Given the description of an element on the screen output the (x, y) to click on. 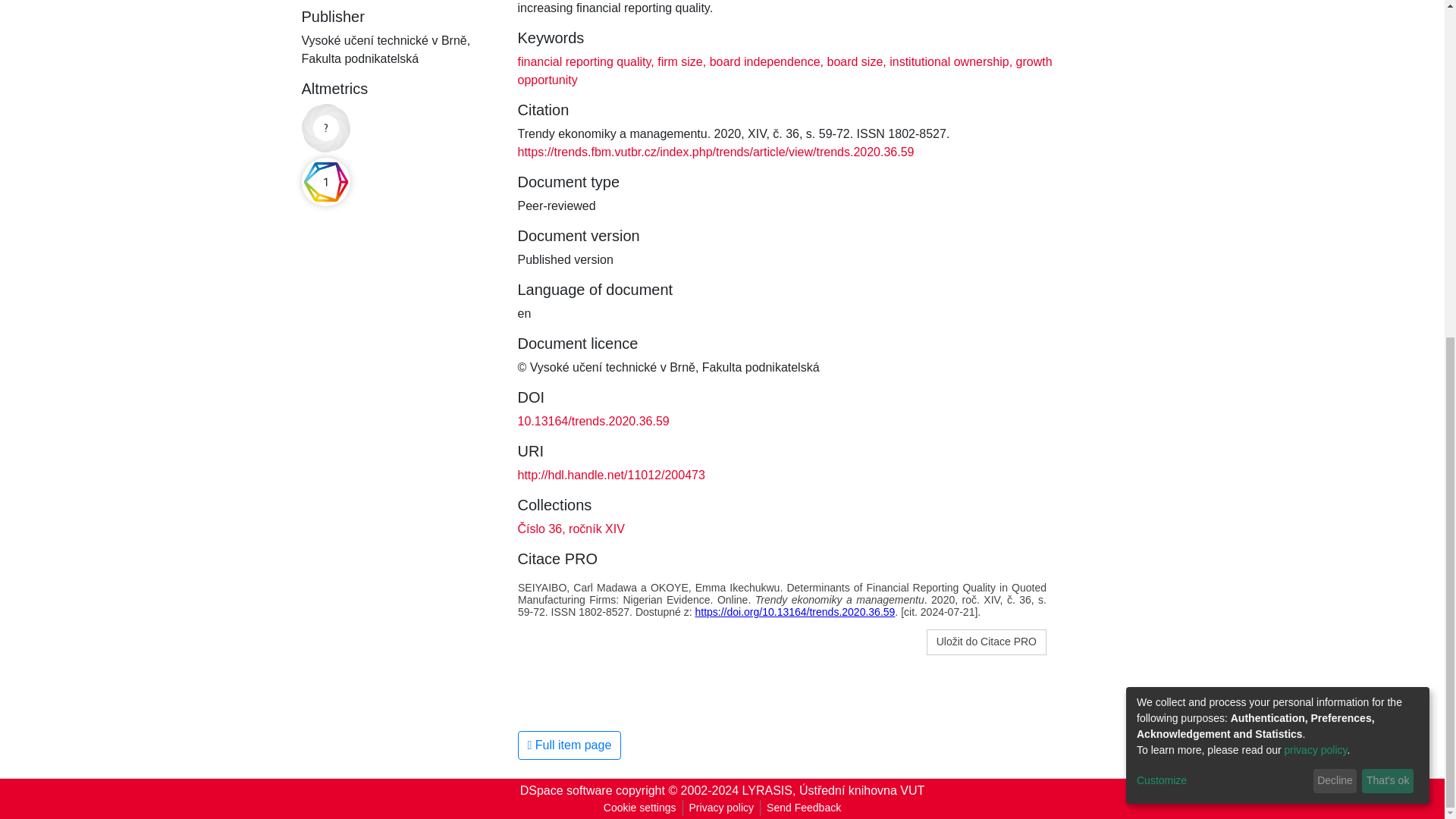
Customize (1222, 213)
board independence, (765, 61)
financial reporting quality, (584, 61)
institutional ownership, (948, 61)
Privacy policy (721, 807)
Full item page (568, 745)
LYRASIS (767, 789)
growth opportunity (783, 70)
DSpace software (565, 789)
Decline (1334, 213)
Cookie settings (639, 807)
1 (325, 182)
firm size, (679, 61)
privacy policy (1316, 182)
board size, (855, 61)
